Given the description of an element on the screen output the (x, y) to click on. 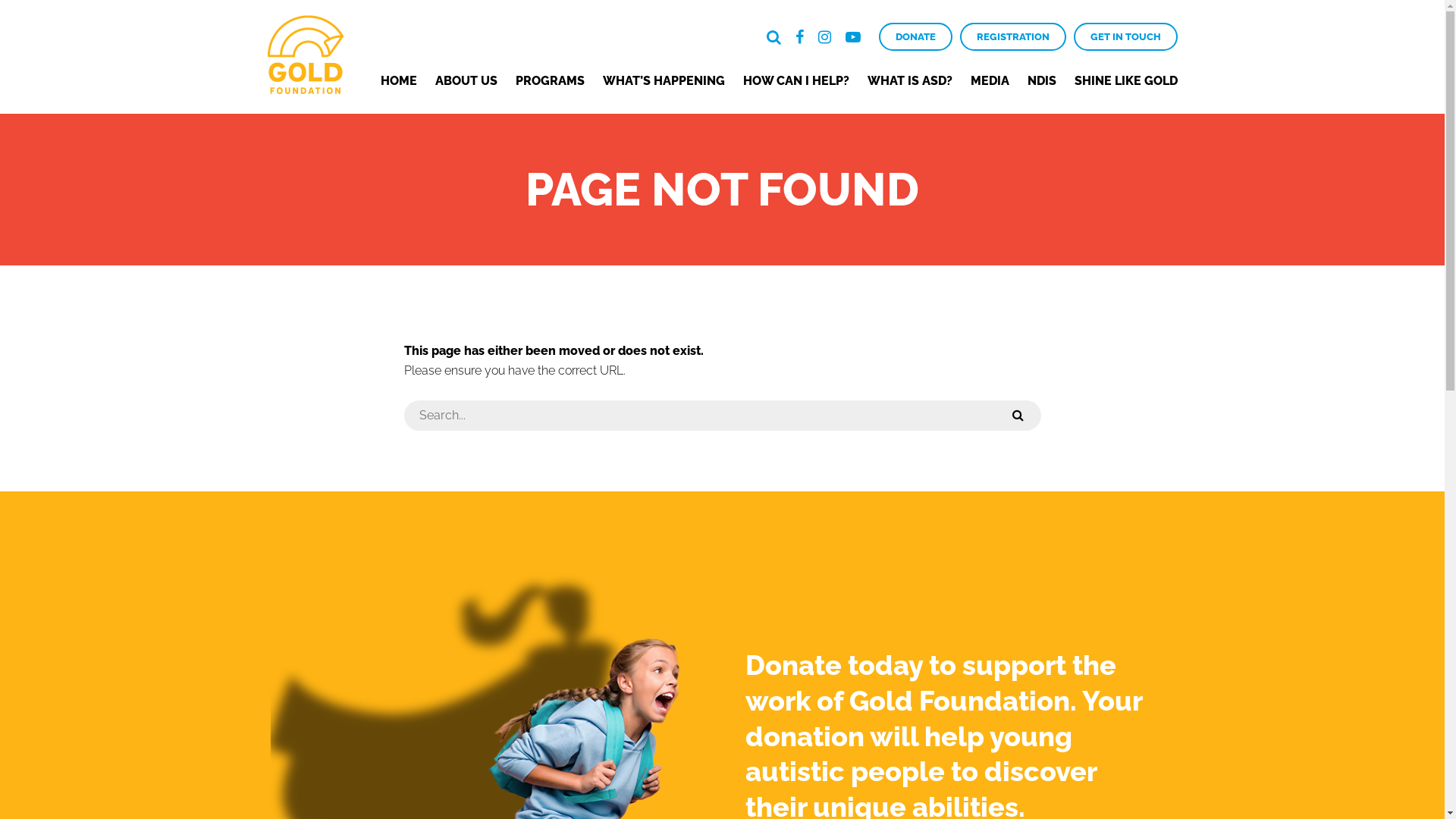
WHAT IS ASD? Element type: text (909, 80)
MEDIA Element type: text (989, 80)
REGISTRATION Element type: text (1013, 36)
HOME Element type: text (398, 80)
HOW CAN I HELP? Element type: text (796, 80)
GET IN TOUCH Element type: text (1125, 36)
SHINE LIKE GOLD Element type: text (1124, 80)
PROGRAMS Element type: text (549, 80)
NDIS Element type: text (1040, 80)
DONATE Element type: text (914, 36)
ABOUT US Element type: text (466, 80)
